Given the description of an element on the screen output the (x, y) to click on. 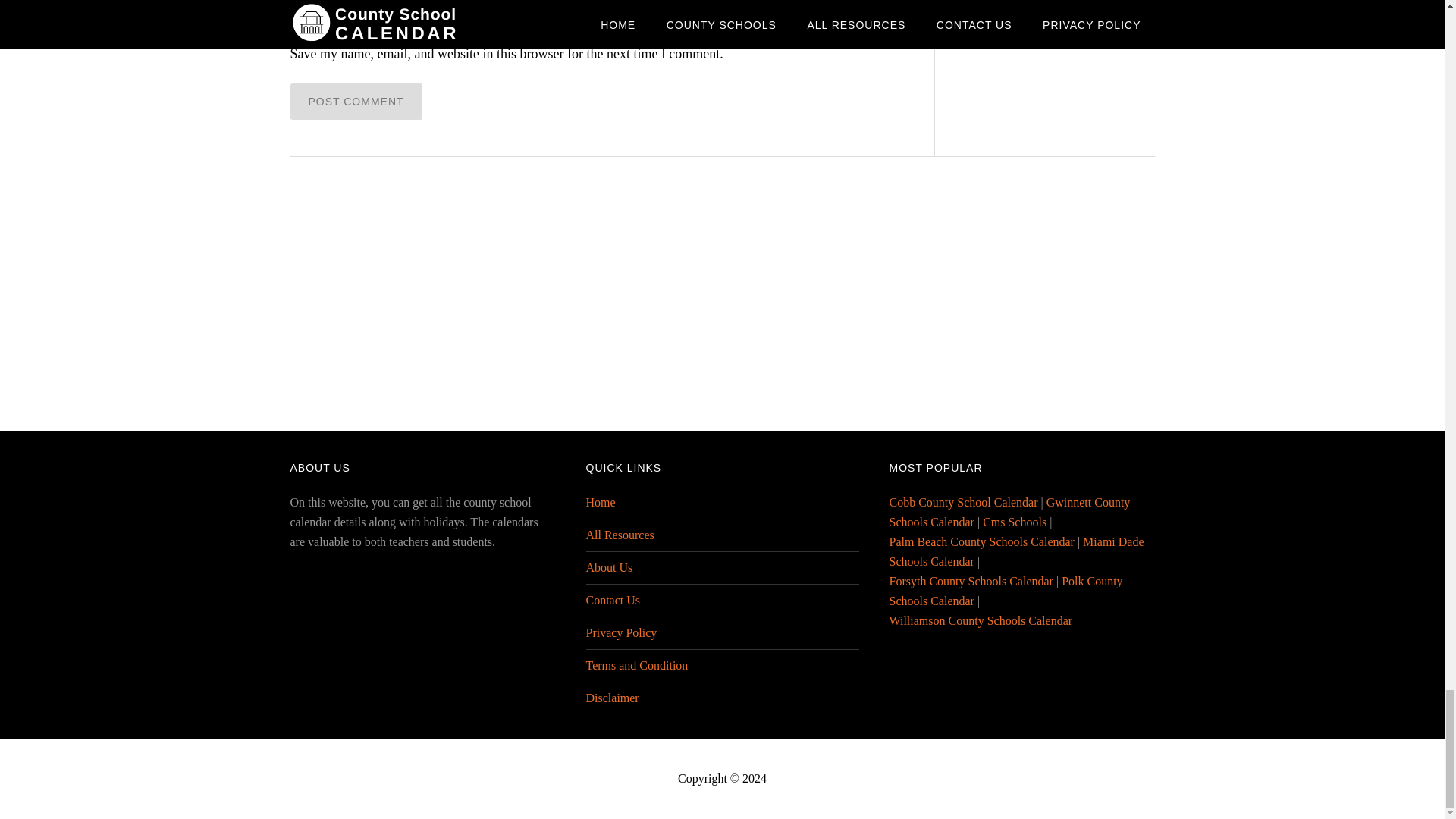
Post Comment (355, 101)
yes (294, 30)
